Given the description of an element on the screen output the (x, y) to click on. 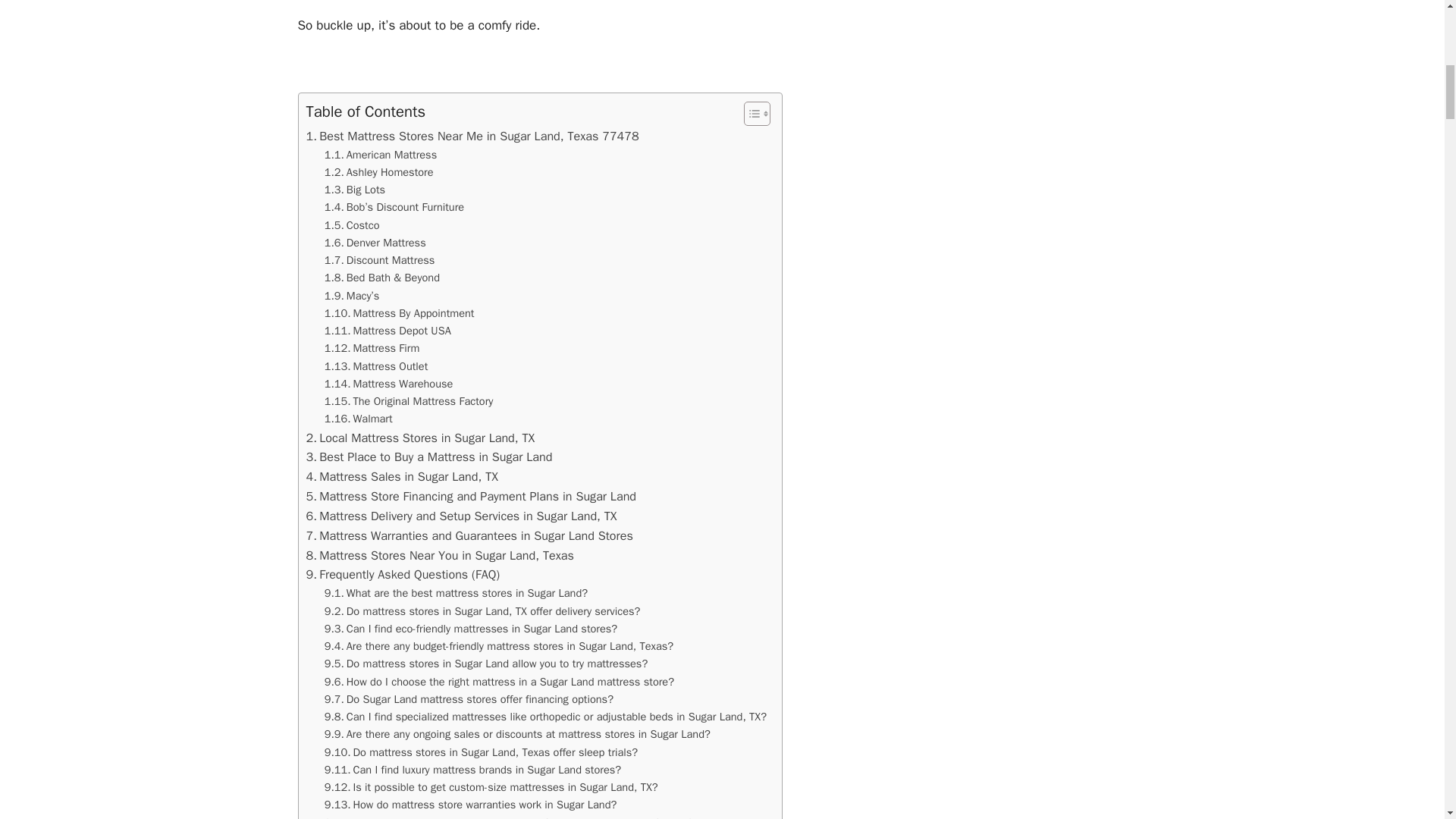
American Mattress (380, 154)
Denver Mattress (375, 242)
Ashley Homestore (378, 171)
Big Lots (354, 189)
Mattress Depot USA (387, 330)
Discount Mattress (379, 260)
Mattress By Appointment (399, 313)
Costco (352, 225)
Best Mattress Stores Near Me in Sugar Land, Texas 77478 (472, 136)
